Given the description of an element on the screen output the (x, y) to click on. 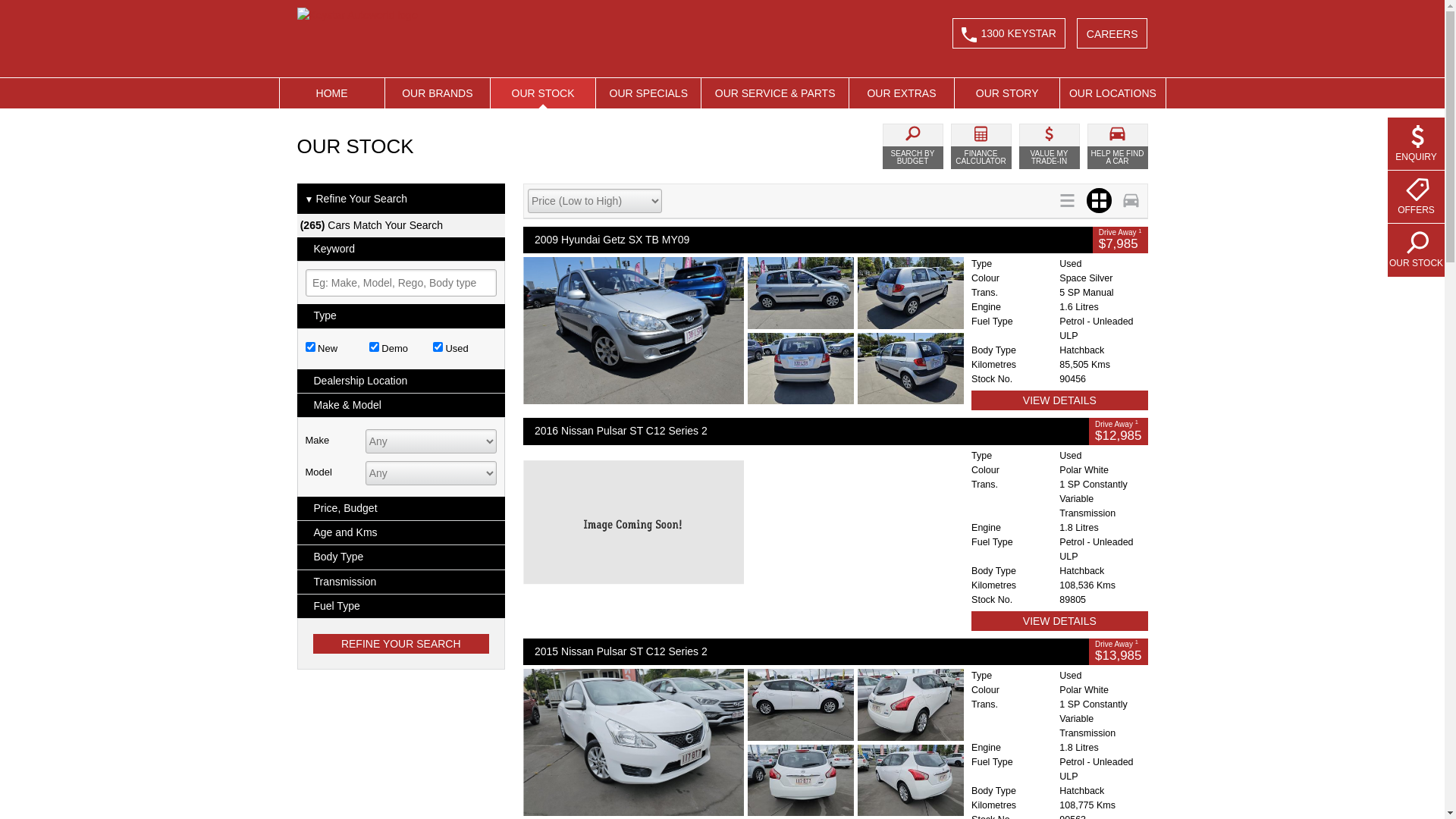
Type Element type: text (401, 315)
2009 Hyundai Getz SX TB MY09 Element type: text (807, 239)
VIEW DETAILS Element type: text (1059, 620)
Price, Budget Element type: text (401, 508)
Age and Kms Element type: text (401, 532)
Refine Your Search Element type: text (400, 643)
Dealership Location Element type: text (401, 380)
OUR STOCK Element type: text (1415, 249)
2009 Hyundai Getz SX TB MY09 Space Silver Element type: hover (743, 330)
2016 Nissan Pulsar ST C12 Series 2 Element type: text (805, 430)
OUR BRANDS Element type: text (437, 93)
OUR EXTRAS Element type: text (901, 93)
SEARCH BY BUDGET Element type: text (912, 146)
VALUE MY TRADE-IN Element type: text (1049, 146)
OUR STORY Element type: text (1006, 93)
OFFERS Element type: text (1415, 196)
Drive Away 1
$12,985 Element type: text (1117, 430)
FINANCE CALCULATOR Element type: text (980, 146)
Drive Away 1
$13,985 Element type: text (1117, 651)
Body Type Element type: text (401, 556)
2015 Nissan Pulsar ST C12 Series 2 Polar White Element type: hover (743, 741)
Drive Away 1
$7,985 Element type: text (1120, 239)
Make & Model Element type: text (401, 405)
HOME Element type: text (331, 93)
HELP ME FIND A CAR Element type: text (1117, 146)
2016 Nissan Pulsar Element type: hover (743, 522)
OUR SERVICE & PARTS Element type: text (774, 93)
VIEW DETAILS Element type: text (1059, 400)
1300 KEYSTAR Element type: text (1008, 33)
2015 Nissan Pulsar ST C12 Series 2 Element type: text (805, 651)
ENQUIRY Element type: text (1415, 143)
Fuel Type Element type: text (401, 606)
Transmission Element type: text (401, 581)
OUR STOCK Element type: text (542, 93)
Keyword Element type: text (401, 248)
OUR LOCATIONS Element type: text (1112, 93)
OUR SPECIALS Element type: text (648, 93)
CAREERS Element type: text (1112, 33)
